Given the description of an element on the screen output the (x, y) to click on. 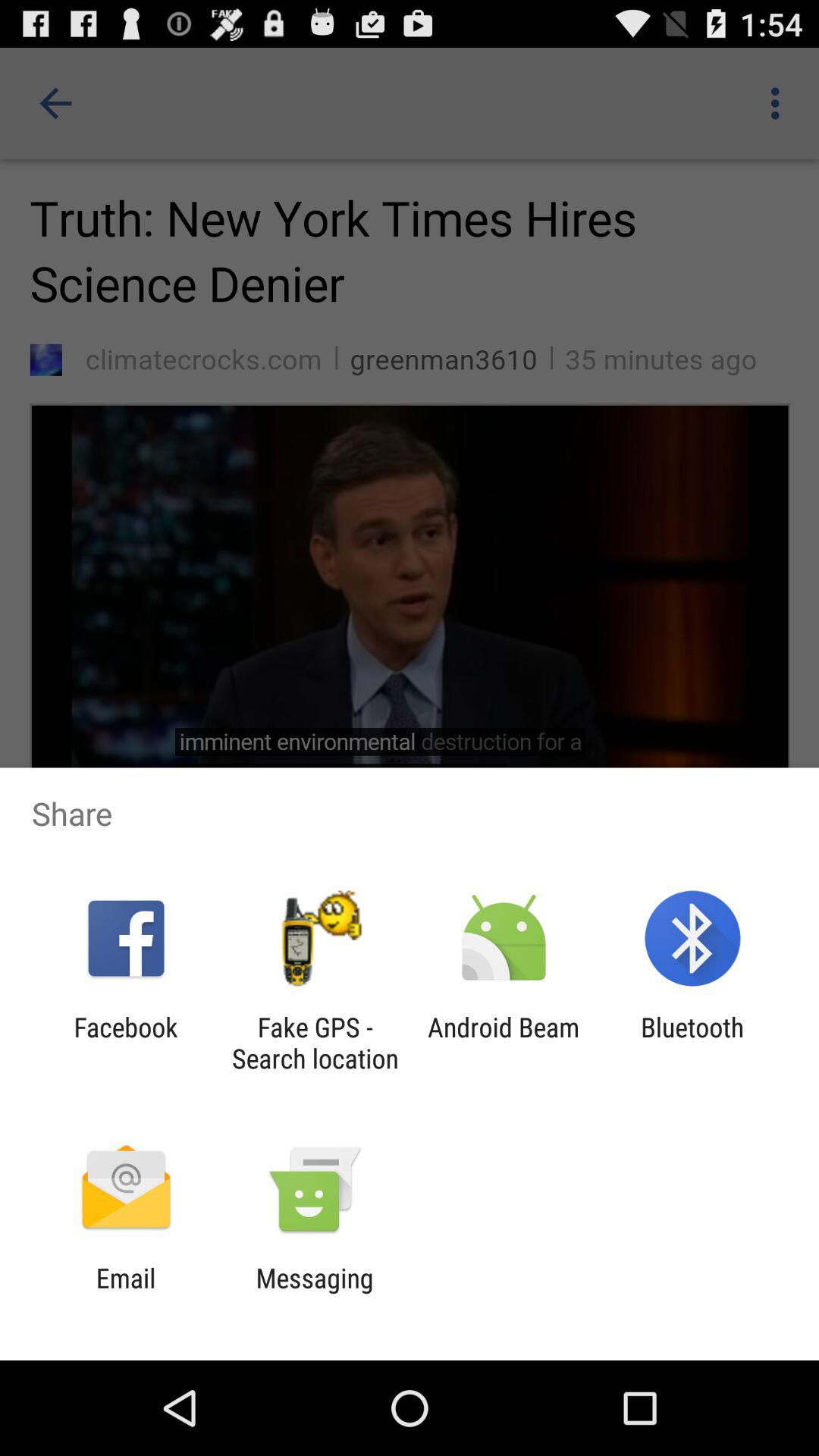
choose facebook item (125, 1042)
